Given the description of an element on the screen output the (x, y) to click on. 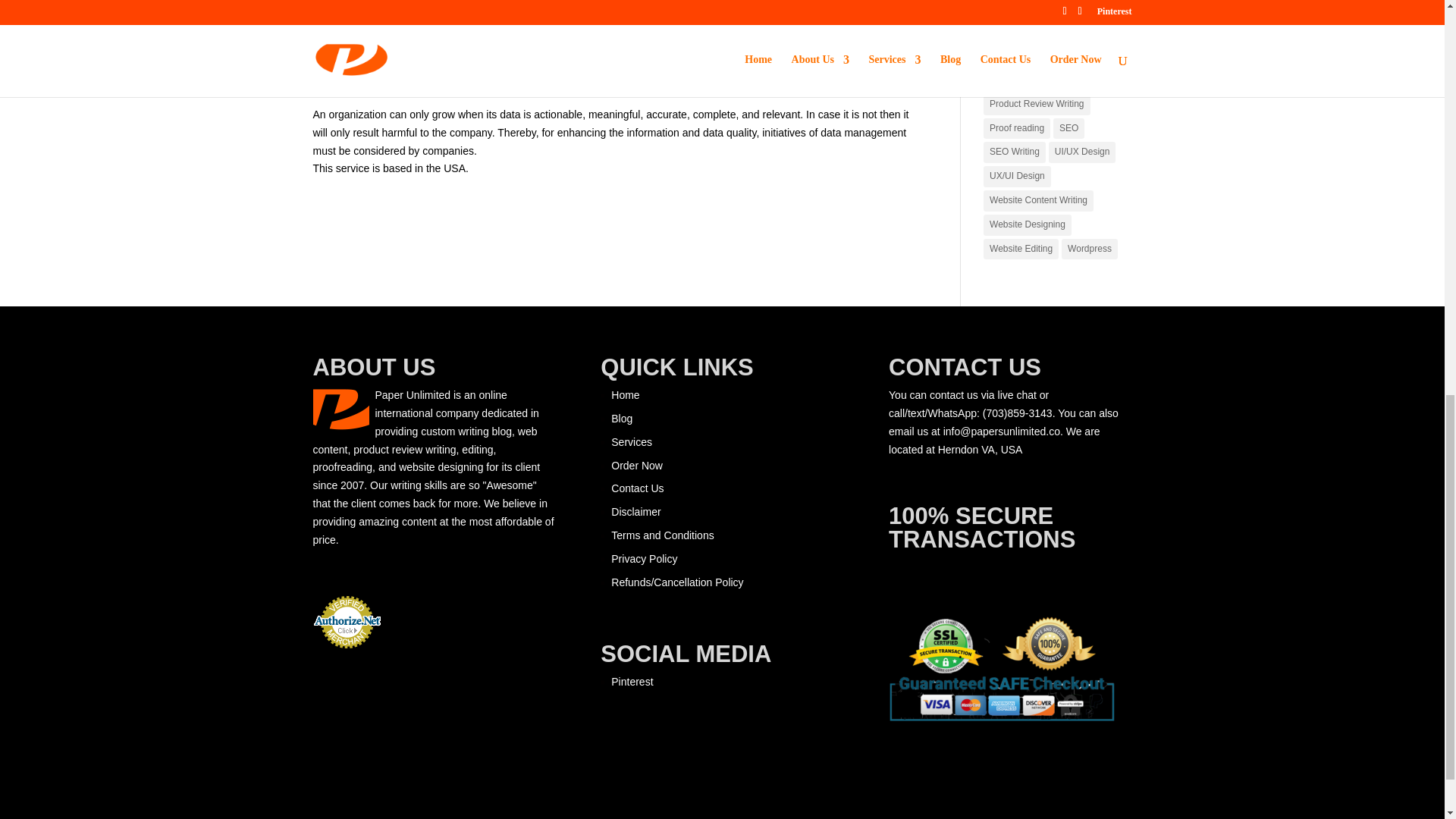
security issues (508, 4)
